Given the description of an element on the screen output the (x, y) to click on. 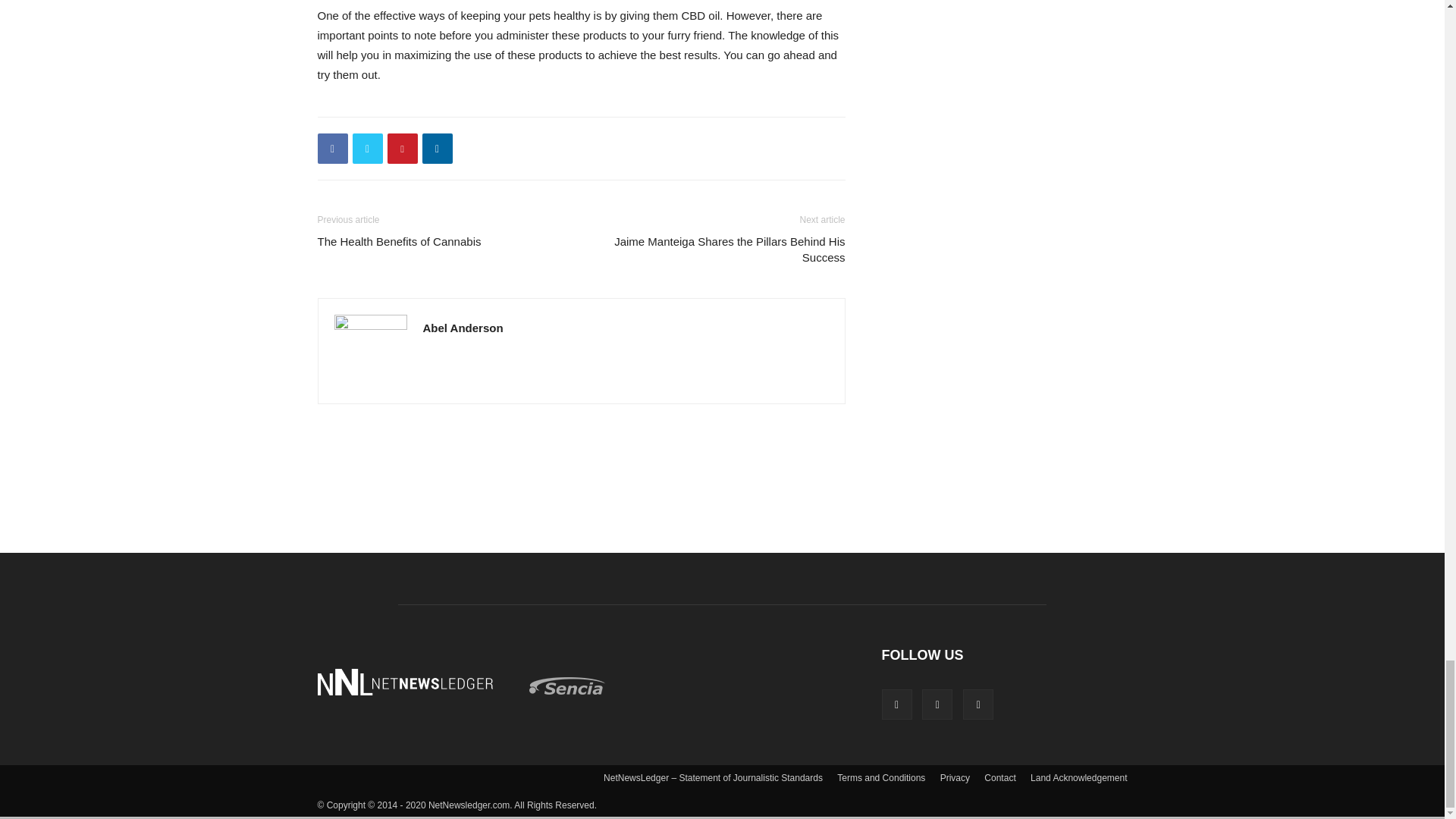
Pinterest (401, 148)
Linkedin (436, 148)
Facebook (332, 148)
Twitter (366, 148)
